Given the description of an element on the screen output the (x, y) to click on. 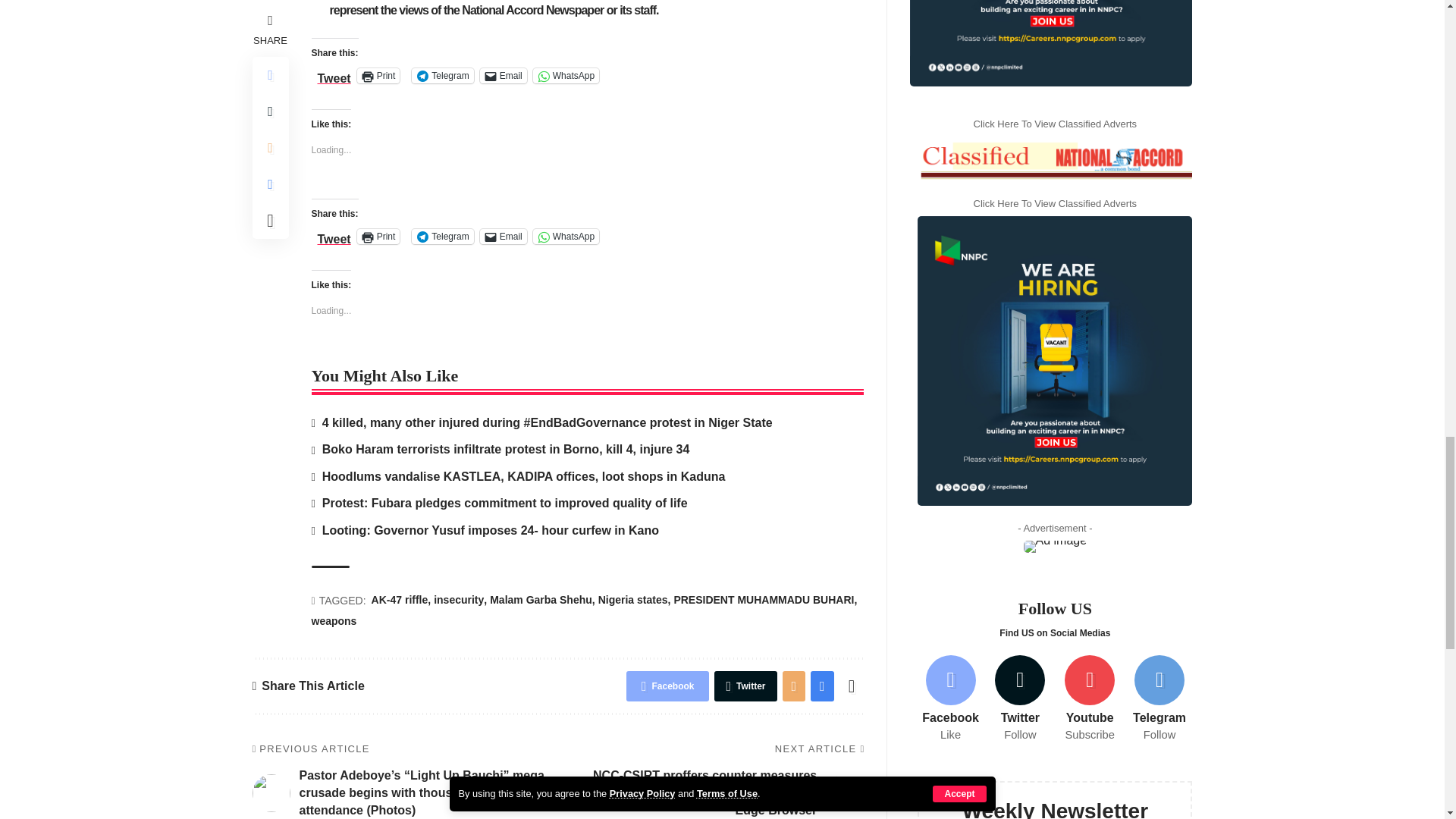
Click to share on Telegram (442, 75)
Click to print (378, 236)
Click to email a link to a friend (503, 75)
Click to share on Telegram (442, 236)
Click to share on WhatsApp (565, 236)
Click to share on WhatsApp (565, 75)
Click to print (378, 75)
Click to email a link to a friend (503, 236)
